Given the description of an element on the screen output the (x, y) to click on. 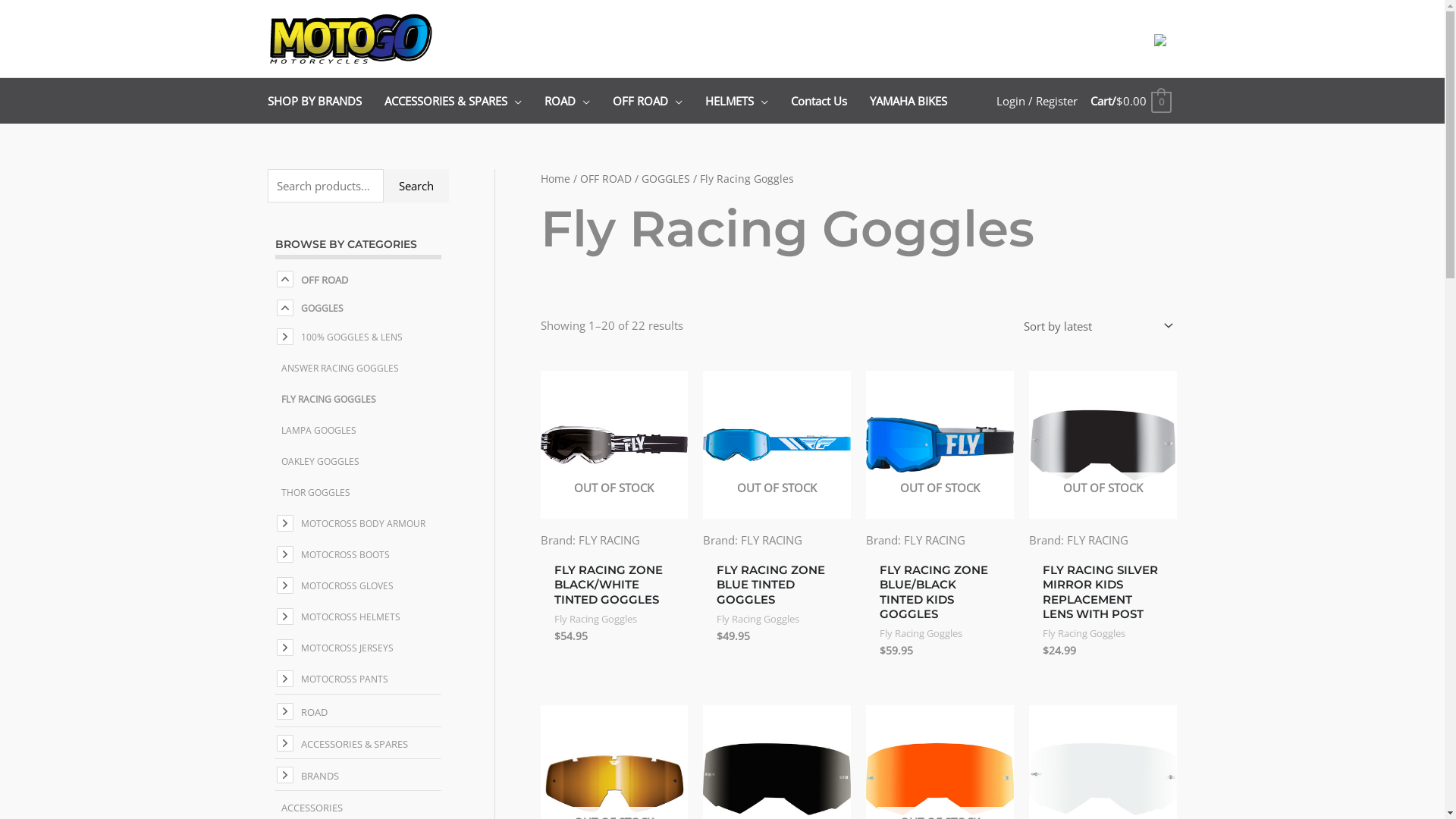
OUT OF STOCK Element type: text (939, 444)
ACCESSORIES Element type: text (308, 807)
FLY RACING SILVER MIRROR KIDS REPLACEMENT LENS WITH POST Element type: text (1102, 594)
ROAD Element type: text (310, 711)
MOTOCROSS JERSEYS Element type: text (343, 647)
FLY RACING Element type: text (1097, 539)
FLY RACING ZONE BLUE TINTED GOGGLES Element type: text (776, 587)
OAKLEY GOGGLES Element type: text (316, 461)
Home Element type: text (554, 178)
MOTOCROSS HELMETS Element type: text (346, 616)
Cart/$0.00 0 Element type: text (1129, 100)
MOTOCROSS BODY ARMOUR Element type: text (359, 523)
100% GOGGLES & LENS Element type: text (347, 336)
THOR GOGGLES Element type: text (311, 492)
SHOP BY BRANDS Element type: text (324, 100)
OUT OF STOCK Element type: text (1102, 444)
ACCESSORIES & SPARES Element type: text (350, 743)
ROAD Element type: text (578, 100)
Contact Us Element type: text (829, 100)
FLY RACING Element type: text (934, 539)
LAMPA GOOGLES Element type: text (314, 429)
MOTOCROSS PANTS Element type: text (340, 678)
Login / Register Element type: text (1036, 100)
ANSWER RACING GOGGLES Element type: text (336, 367)
FLY RACING ZONE BLACK/WHITE TINTED GOGGLES Element type: text (613, 587)
OFF ROAD Element type: text (320, 279)
FLY RACING Element type: text (608, 539)
FLY RACING ZONE BLUE/BLACK TINTED KIDS GOGGLES Element type: text (939, 594)
HELMETS Element type: text (747, 100)
Search Element type: text (415, 186)
BRANDS Element type: text (316, 775)
FLY RACING GOGGLES Element type: text (324, 398)
YAMAHA BIKES Element type: text (907, 100)
OUT OF STOCK Element type: text (776, 444)
MOTOCROSS GLOVES Element type: text (343, 585)
GOGGLES Element type: text (665, 178)
FLY RACING Element type: text (771, 539)
OFF ROAD Element type: text (658, 100)
OUT OF STOCK Element type: text (613, 444)
OFF ROAD Element type: text (604, 178)
MOTOCROSS BOOTS Element type: text (341, 554)
ACCESSORIES & SPARES Element type: text (463, 100)
GOGGLES Element type: text (318, 307)
